Given the description of an element on the screen output the (x, y) to click on. 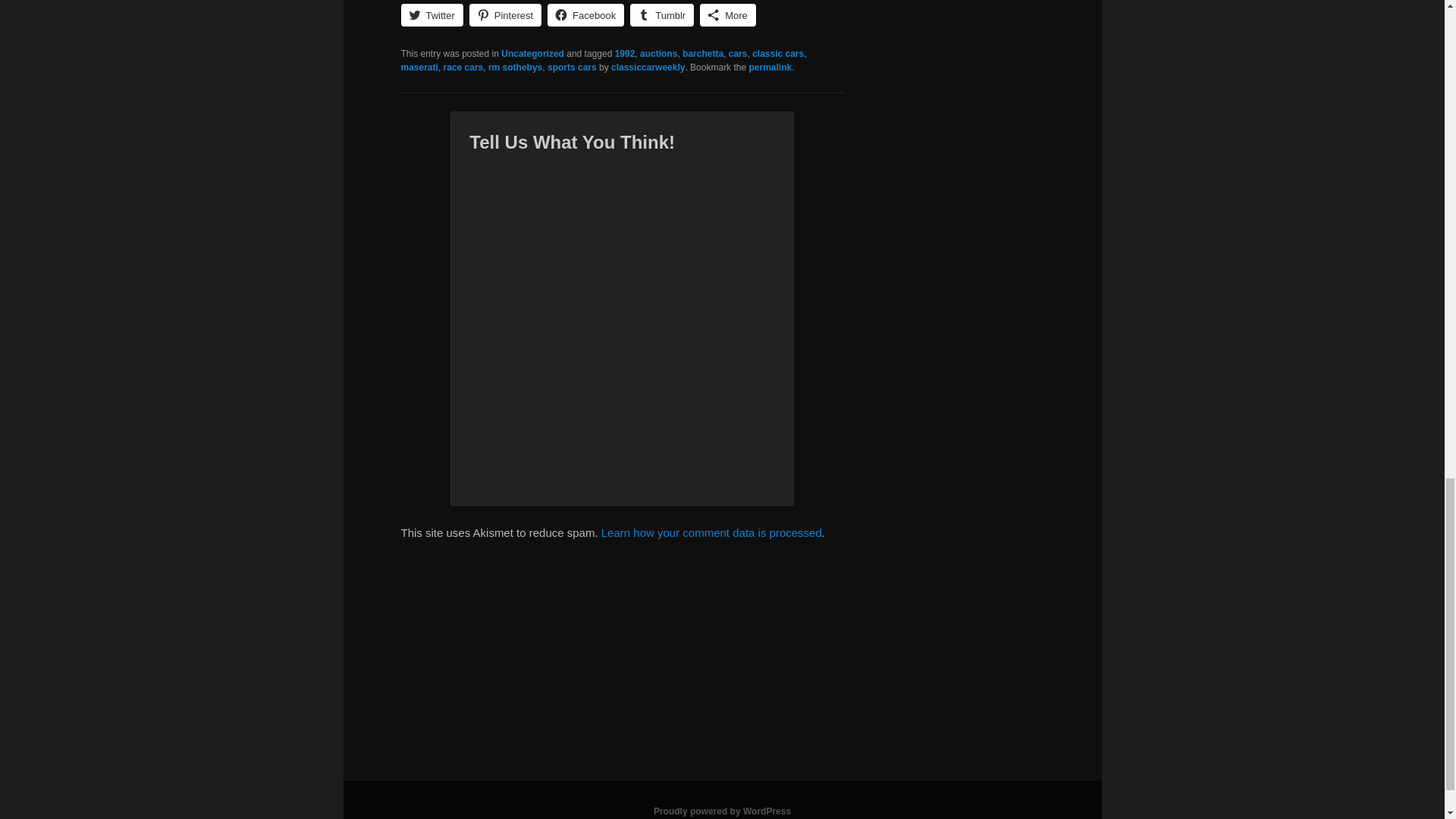
Click to share on Pinterest (504, 15)
Click to share on Tumblr (662, 15)
Permalink to 1992 Maserati Barchetta (770, 67)
Click to share on Facebook (585, 15)
Click to share on Twitter (431, 15)
Comment Form (621, 317)
